Given the description of an element on the screen output the (x, y) to click on. 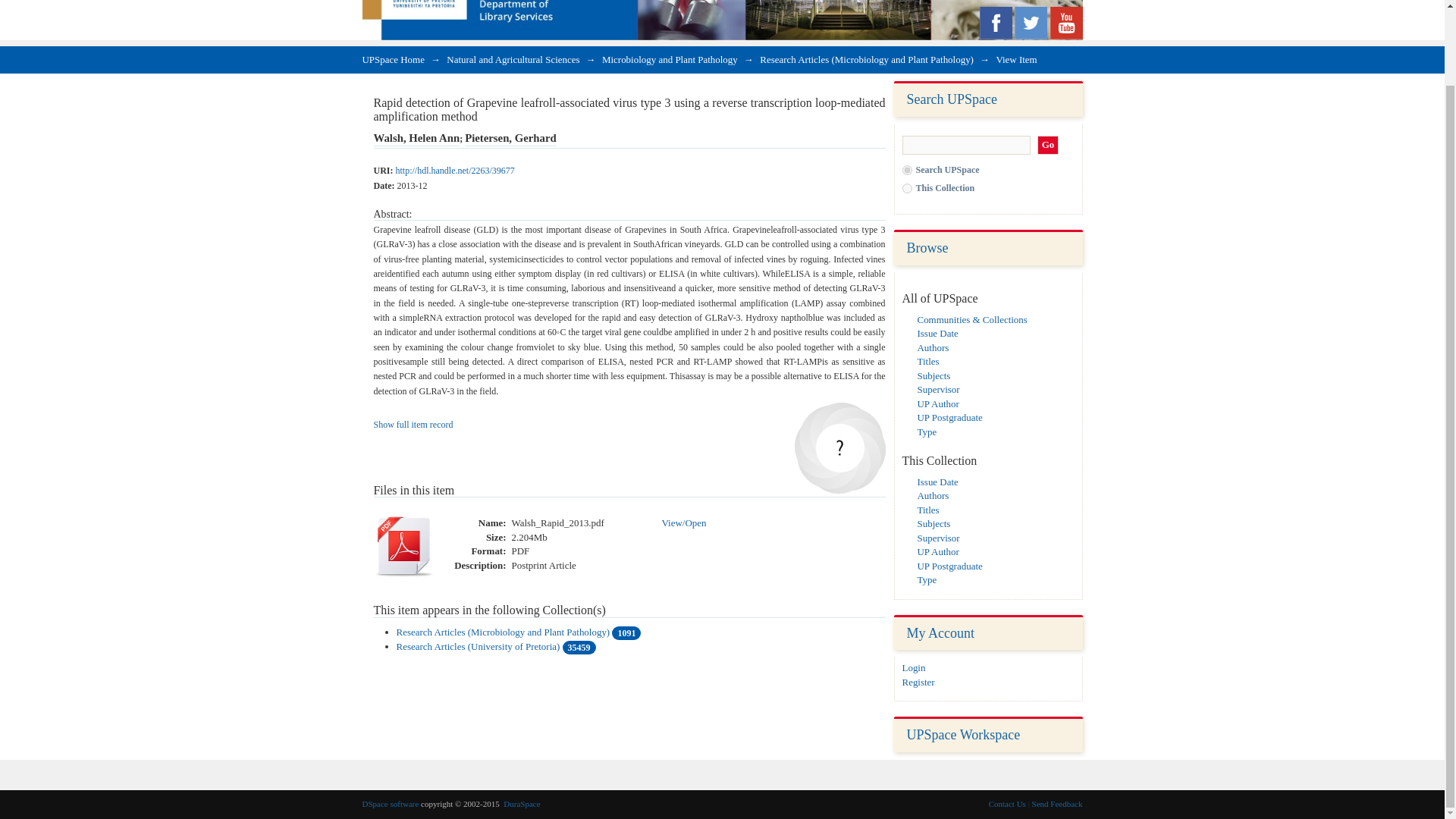
Microbiology and Plant Pathology (670, 59)
Titles (928, 360)
Natural and Agricultural Sciences (512, 59)
UPSpace Home (393, 59)
Login (914, 667)
Issue Date (937, 481)
Subjects (933, 523)
DSpace software (390, 803)
UP Author (938, 551)
Supervisor (938, 389)
Postprint Article (543, 565)
UPSpace Workspace (963, 734)
DuraSpace (521, 803)
Contact Us (1007, 803)
UP Postgraduate (949, 417)
